Given the description of an element on the screen output the (x, y) to click on. 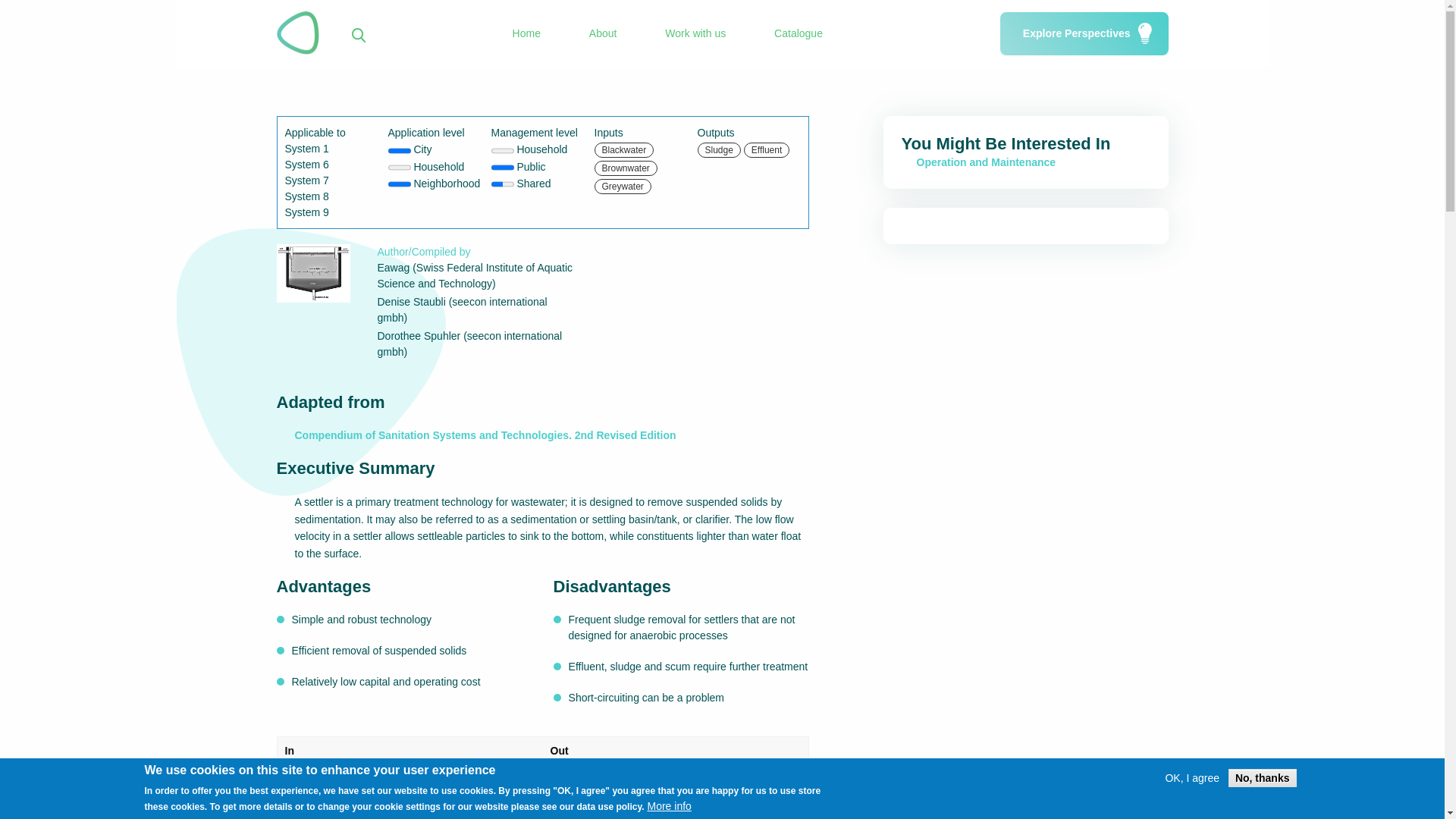
System 6 (307, 164)
System 7 (307, 180)
Home (526, 32)
Faecal Sludge (381, 781)
Explore Perspectives (1084, 33)
System 9 (307, 212)
Work with us (695, 32)
Blackwater (312, 781)
Catalogue (798, 32)
System 1 (307, 148)
System 8 (307, 196)
Search (900, 48)
